Given the description of an element on the screen output the (x, y) to click on. 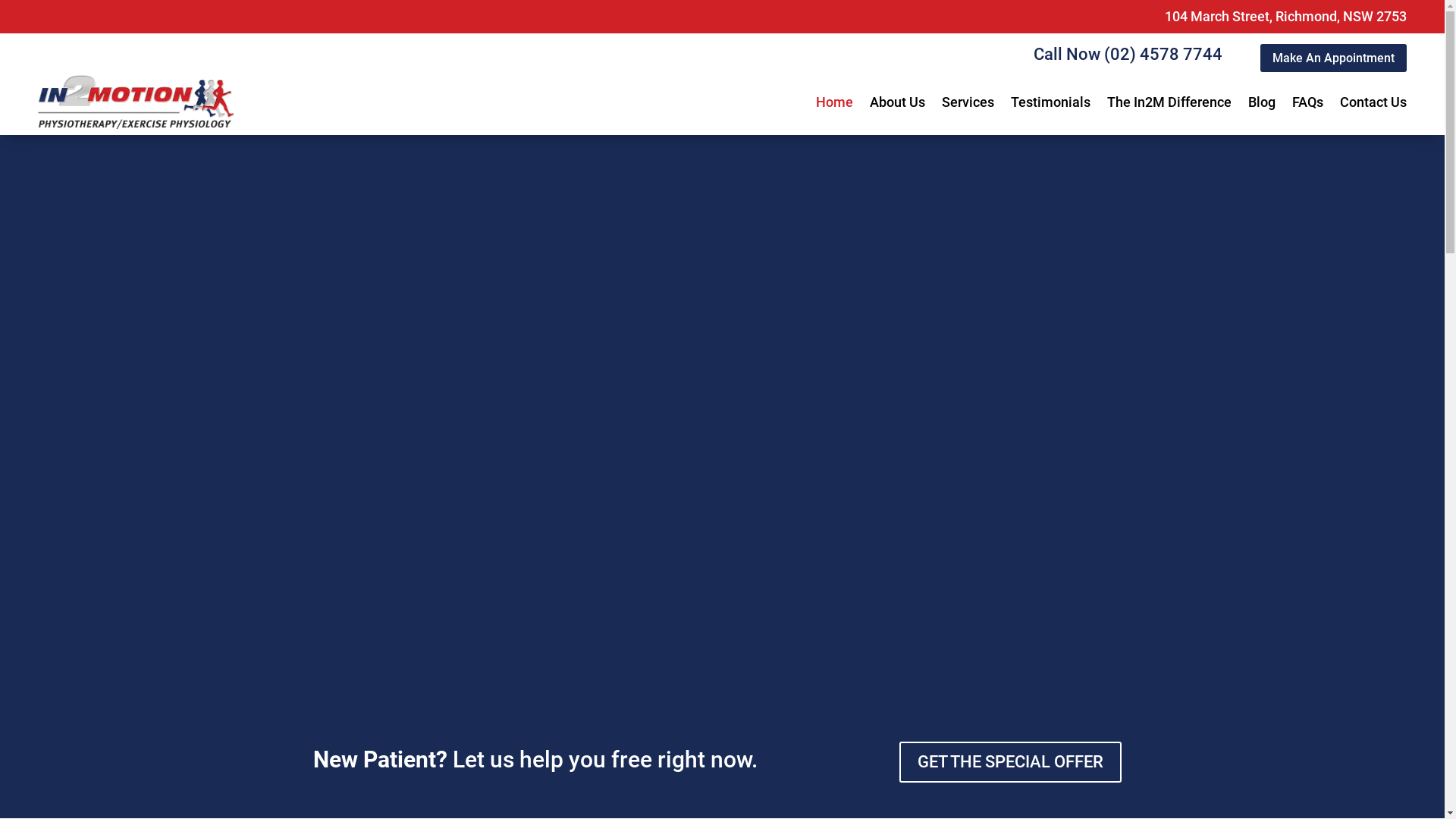
About Us Element type: text (897, 102)
Call Now (02) 4578 7744 Element type: text (1127, 53)
Services Element type: text (967, 102)
Contact Us Element type: text (1372, 102)
Blog Element type: text (1261, 102)
Make An Appointment Element type: text (1333, 57)
Testimonials Element type: text (1050, 102)
GET THE SPECIAL OFFER Element type: text (1010, 762)
Home Element type: text (834, 102)
The In2M Difference Element type: text (1169, 102)
FAQs Element type: text (1307, 102)
